Given the description of an element on the screen output the (x, y) to click on. 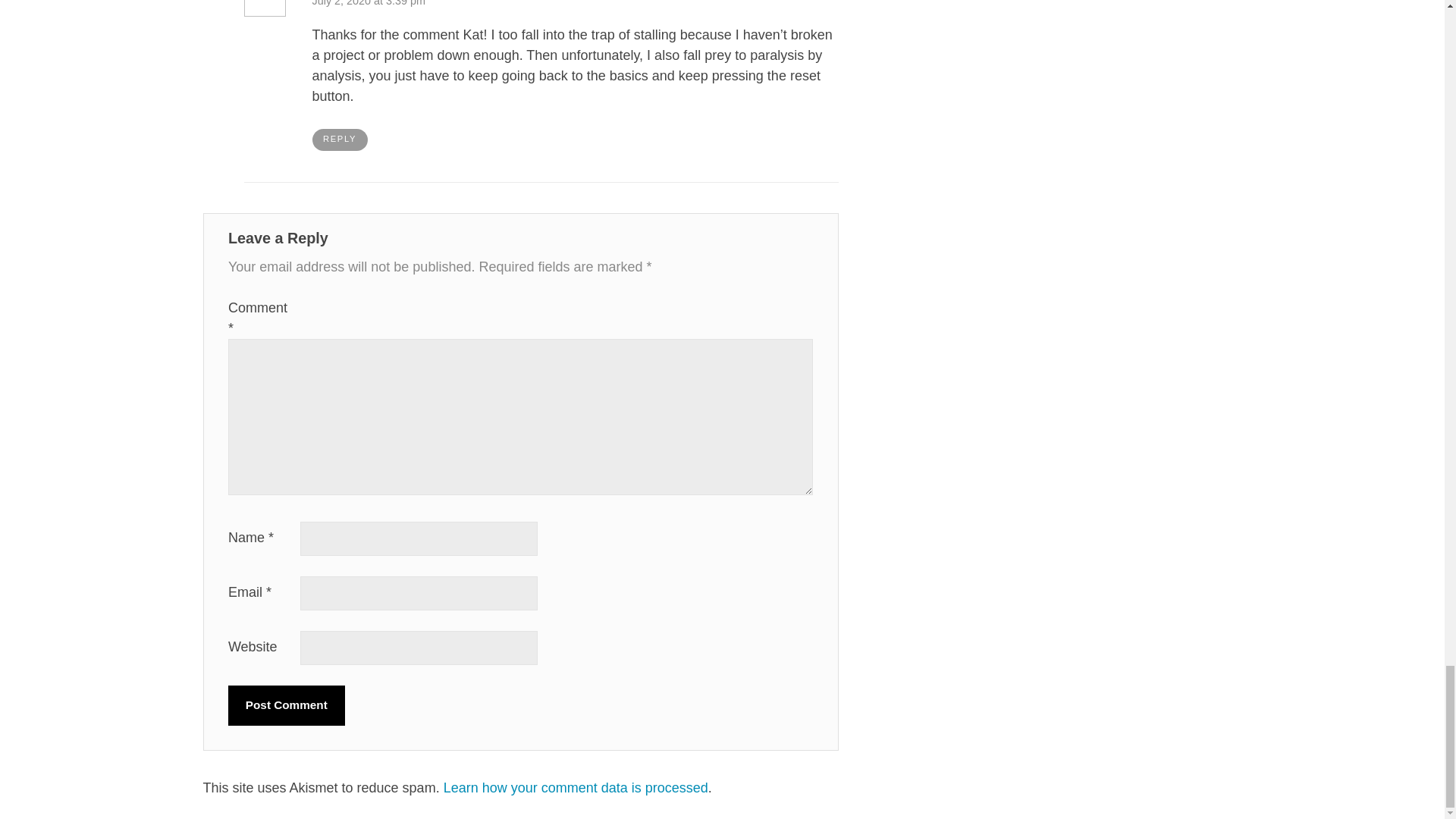
Post Comment (286, 705)
